Given the description of an element on the screen output the (x, y) to click on. 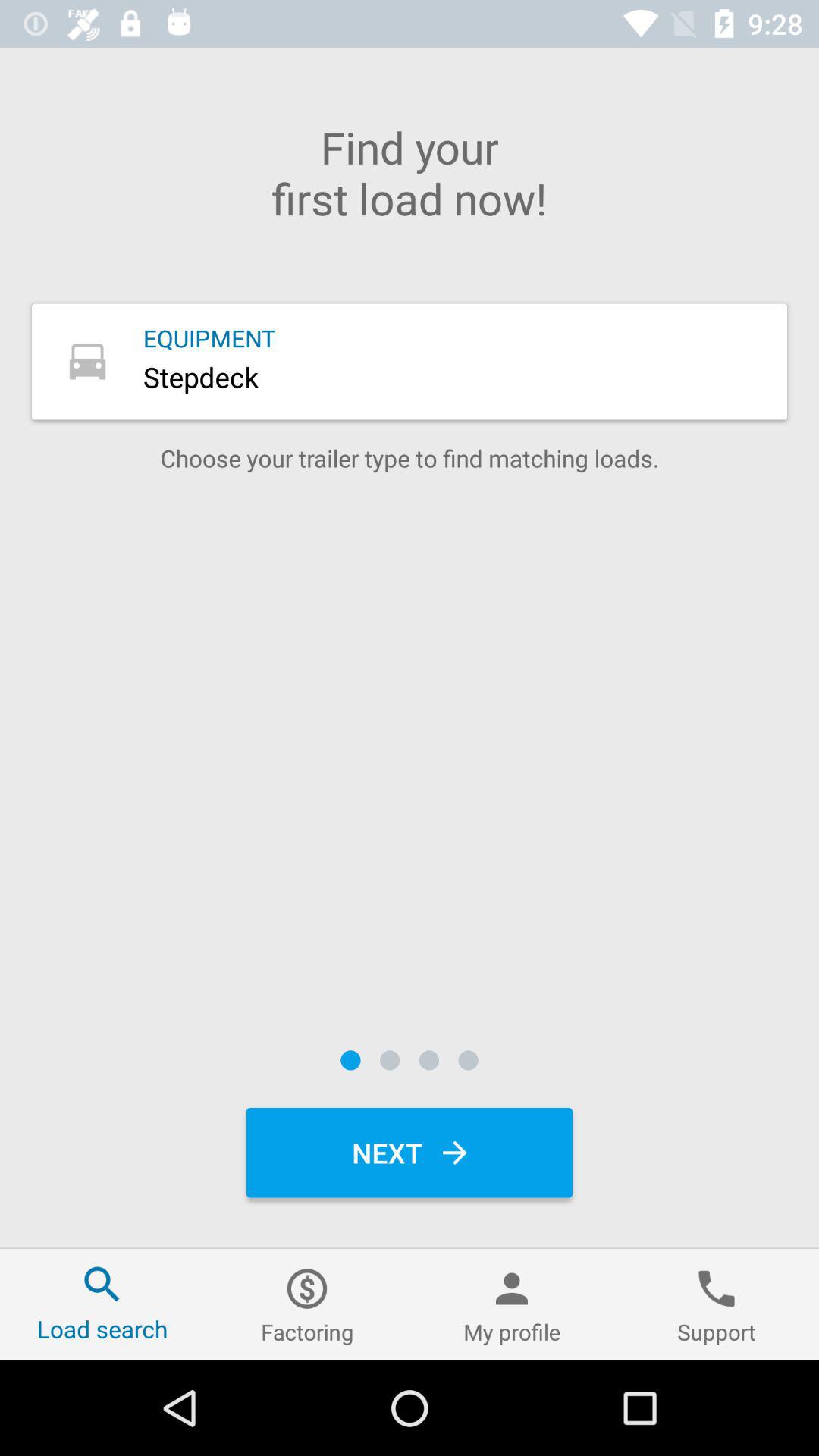
launch item to the left of the my profile icon (306, 1304)
